Given the description of an element on the screen output the (x, y) to click on. 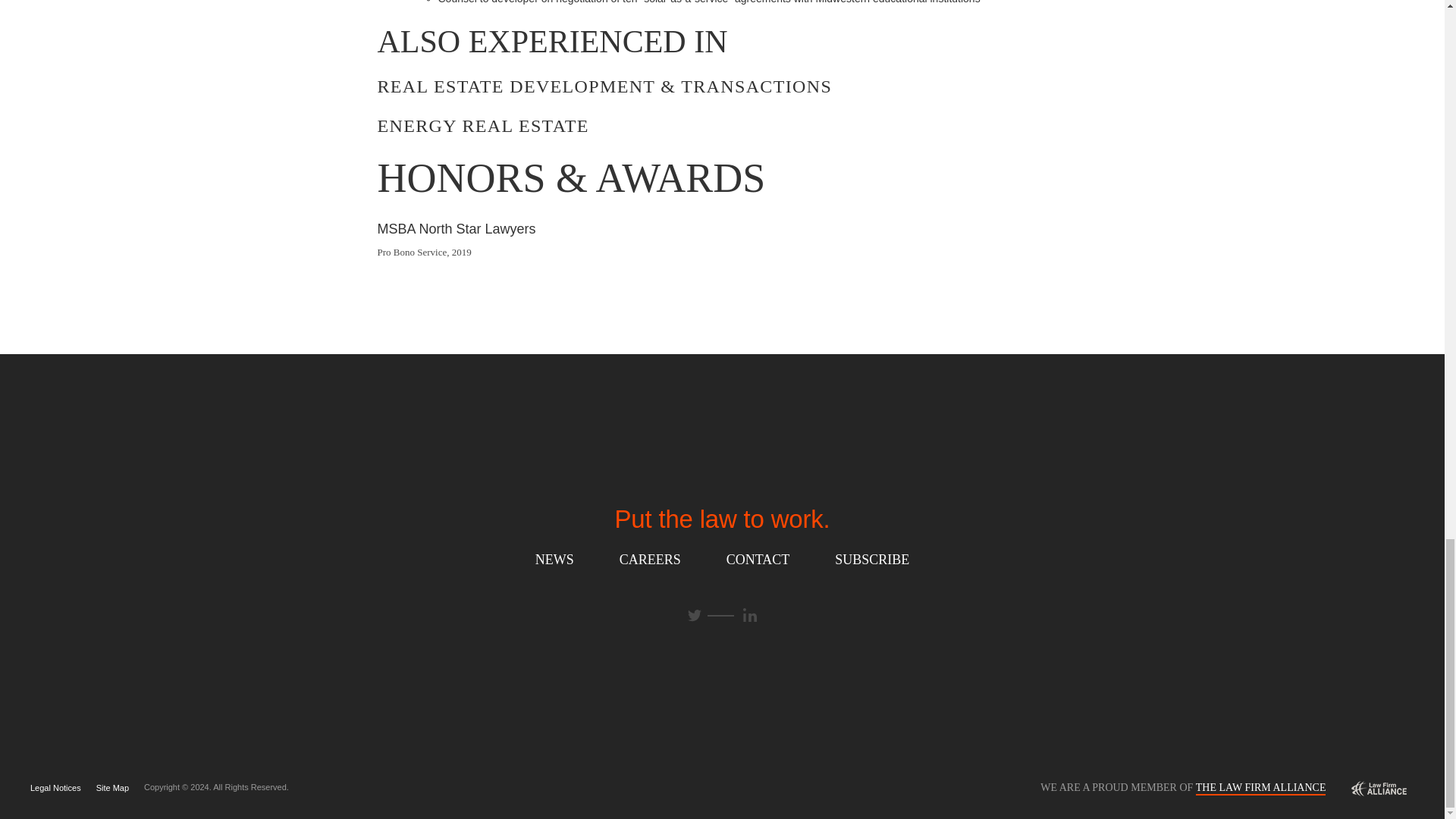
CONTACT (758, 559)
SUBSCRIBE (872, 559)
CAREERS (650, 559)
Twitter (694, 615)
THE LAW FIRM ALLIANCE (1260, 787)
NEWS (554, 559)
Site Map (112, 788)
Legal Notices (55, 788)
Linked In (749, 614)
